Given the description of an element on the screen output the (x, y) to click on. 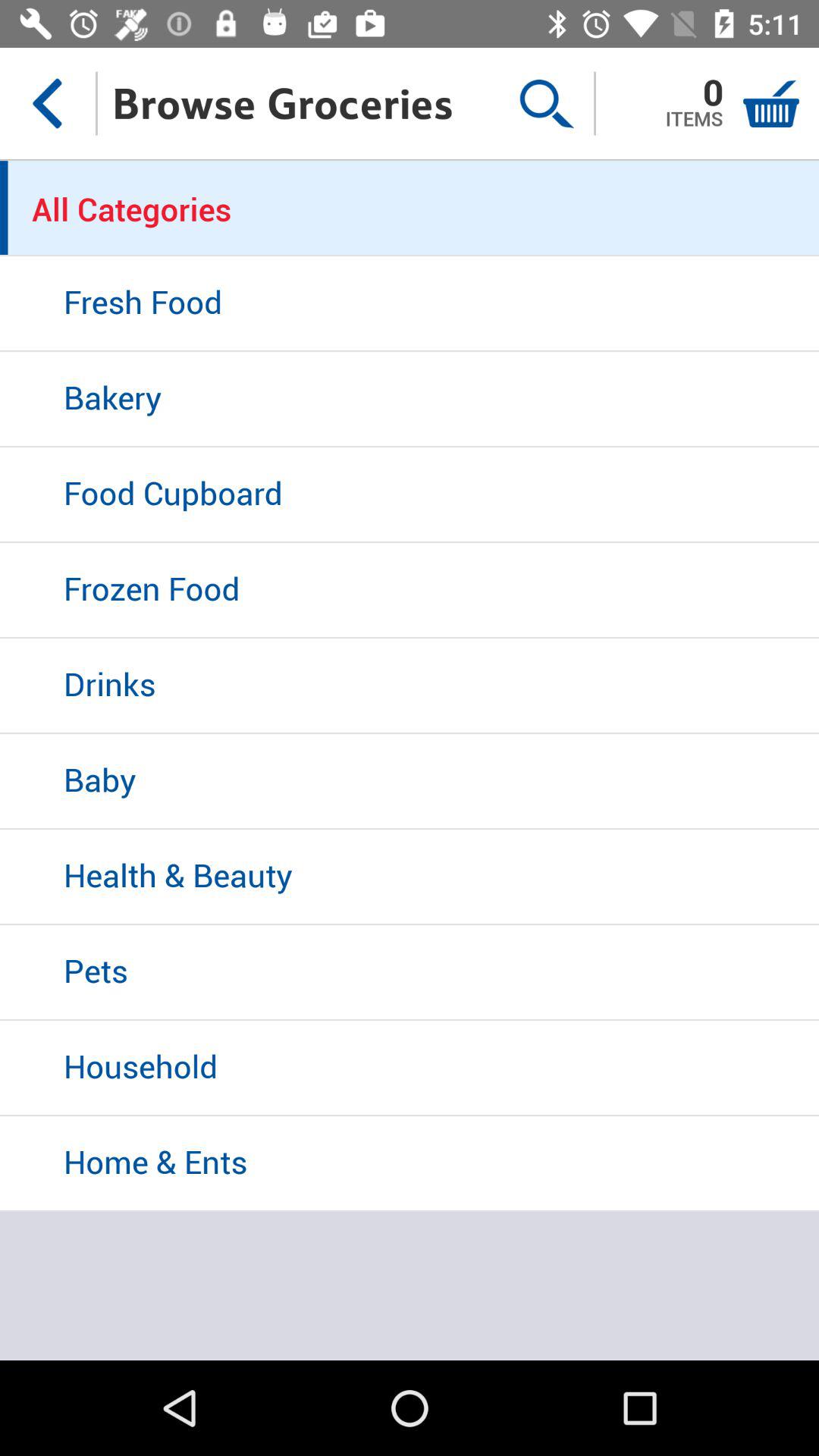
press the item below the drinks (409, 781)
